Given the description of an element on the screen output the (x, y) to click on. 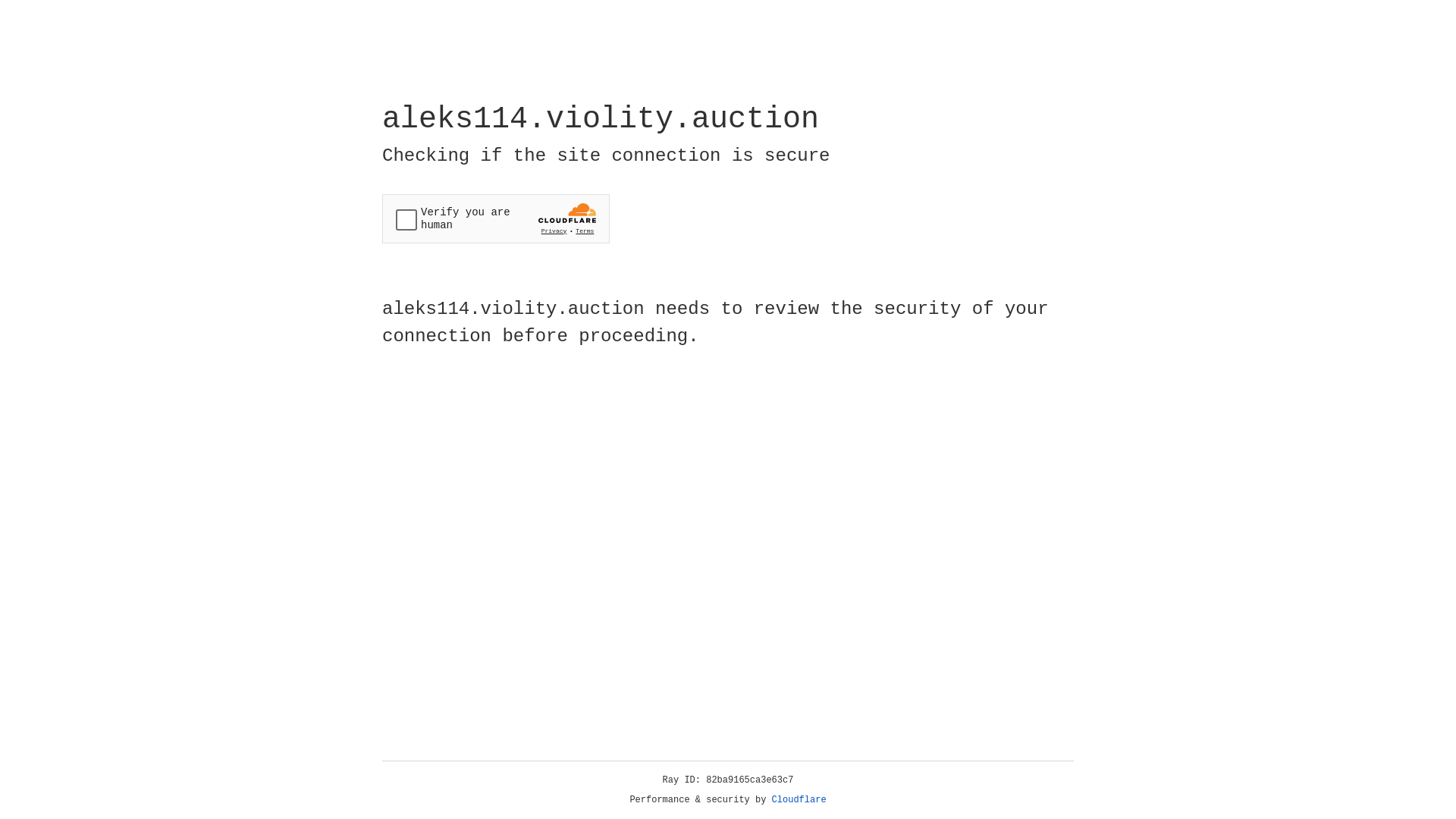
Widget containing a Cloudflare security challenge Element type: hover (495, 218)
Cloudflare Element type: text (798, 799)
